Given the description of an element on the screen output the (x, y) to click on. 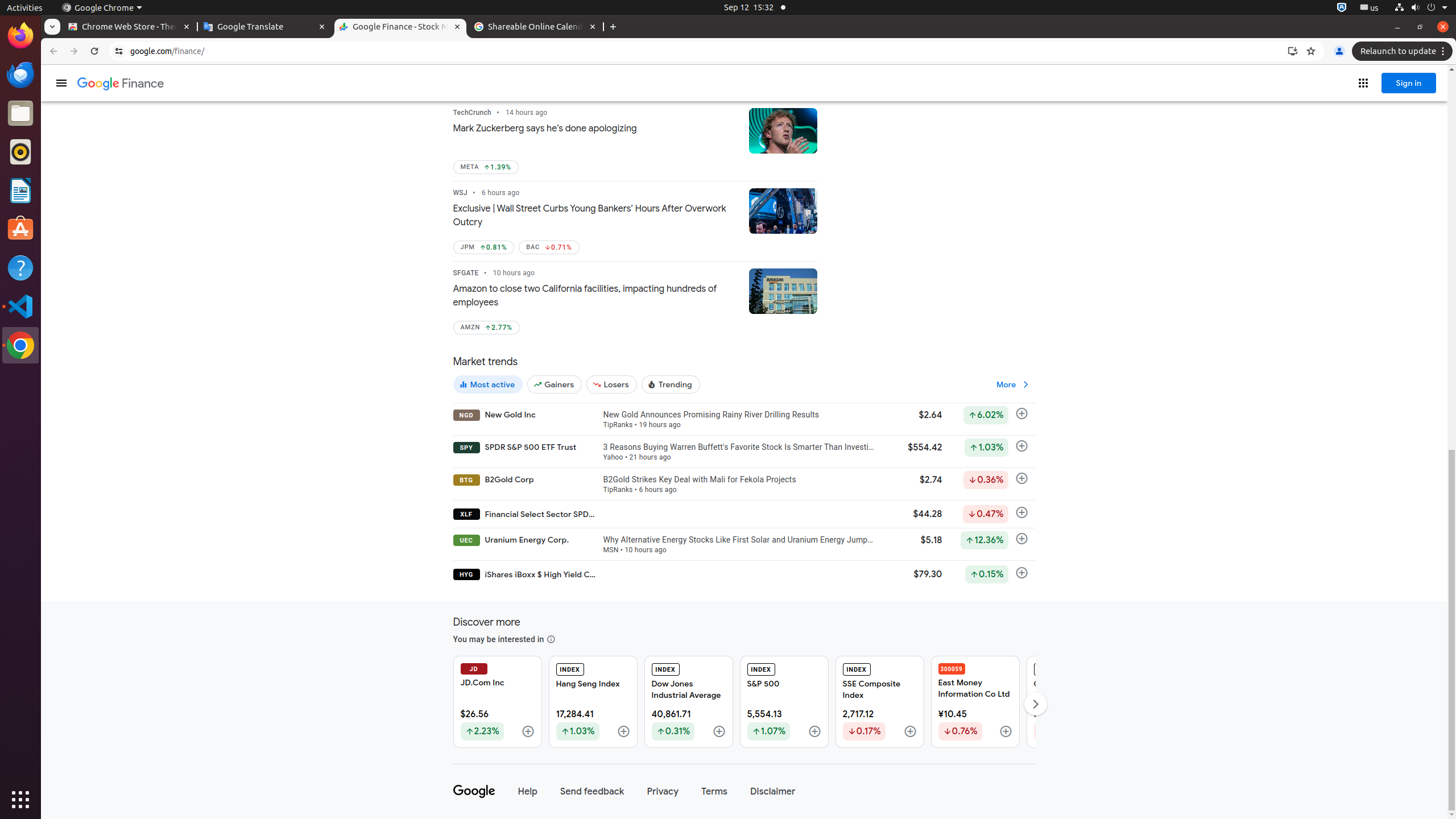
Ubuntu Software Element type: push-button (20, 229)
New Tab Element type: push-button (613, 26)
JPM Up by 0.81% Element type: link (483, 247)
AMZN Up by 2.77% Element type: link (485, 327)
View more Element type: link (1013, 384)
